Given the description of an element on the screen output the (x, y) to click on. 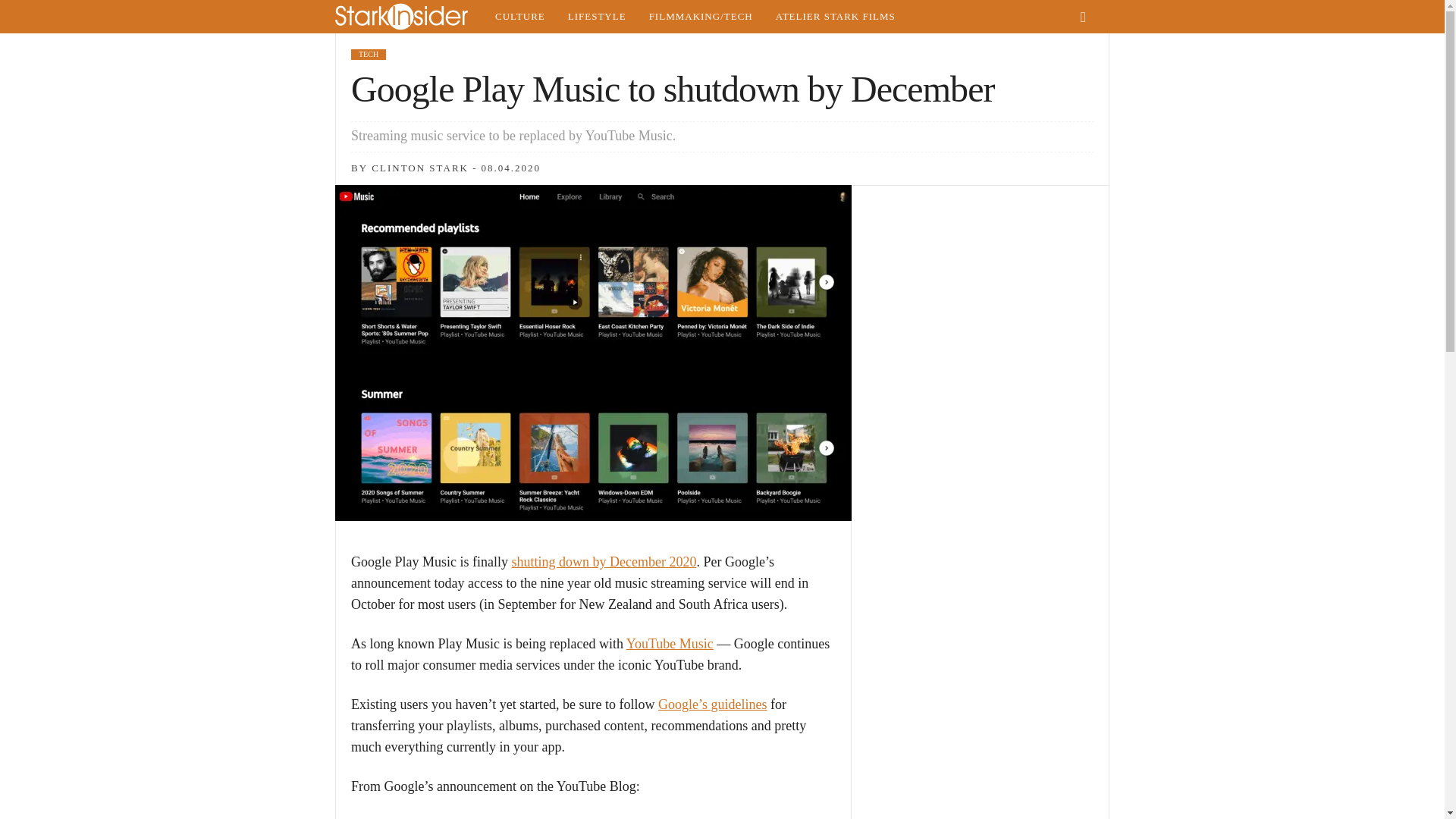
CLINTON STARK (419, 167)
LIFESTYLE (596, 16)
Indie film, music, arts in San Francisco and Silicon Valley (519, 16)
TECH (367, 54)
YouTube Music (669, 643)
shutting down by December 2020 (603, 561)
Tech, gadgets, camera news and reviews from Silicon Valley (700, 16)
ATELIER STARK FILMS (835, 16)
CULTURE (519, 16)
Stark Insider (408, 16)
